Given the description of an element on the screen output the (x, y) to click on. 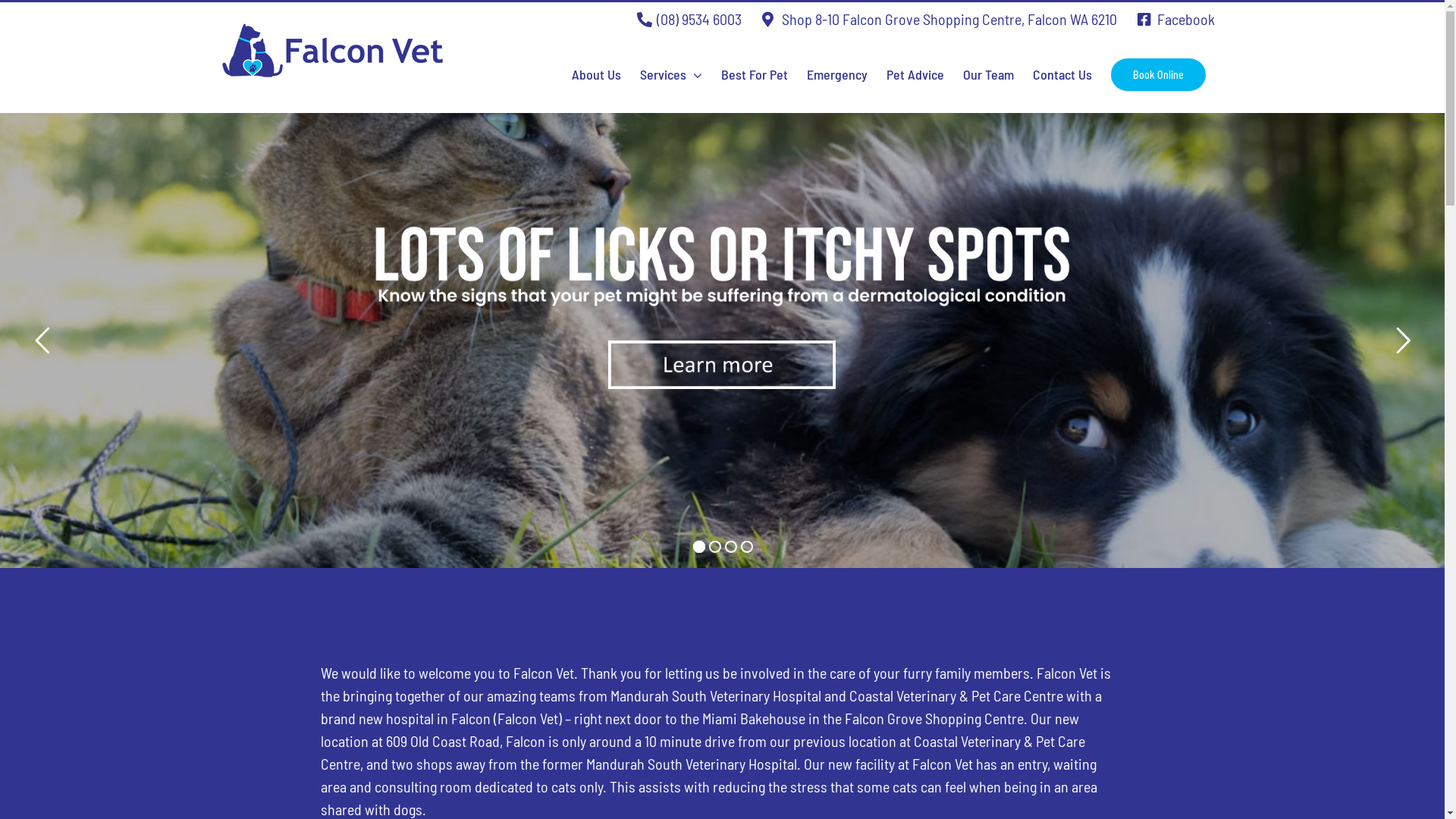
Our Team Element type: text (988, 74)
Pet Advice Element type: text (915, 74)
Shop 8-10 Falcon Grove Shopping Centre, Falcon WA 6210 Element type: text (939, 18)
Book Online Element type: text (1157, 74)
Emergency Element type: text (836, 74)
About Us Element type: text (596, 74)
Services Element type: text (671, 74)
(08) 9534 6003 Element type: text (689, 18)
Contact Us Element type: text (1062, 74)
Best For Pet Element type: text (754, 74)
Facebook Element type: text (1175, 18)
